Given the description of an element on the screen output the (x, y) to click on. 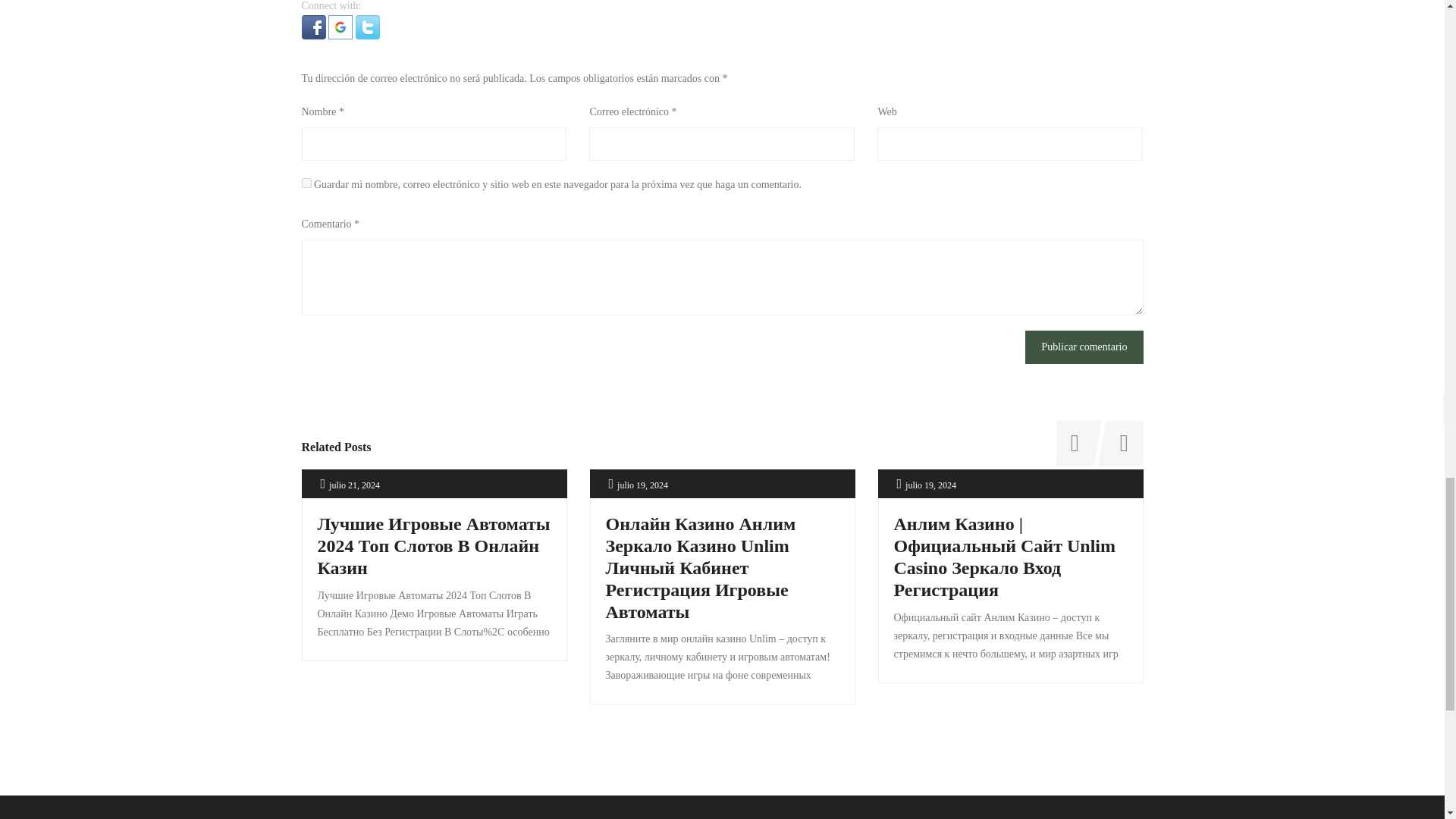
julio 21, 2024 (354, 485)
julio 19, 2024 (930, 485)
Publicar comentario (1083, 346)
julio 19, 2024 (642, 485)
Connect with Facebook (315, 25)
Connect with Twitter (366, 25)
Connect with Google (342, 25)
Publicar comentario (1083, 346)
yes (306, 183)
